Given the description of an element on the screen output the (x, y) to click on. 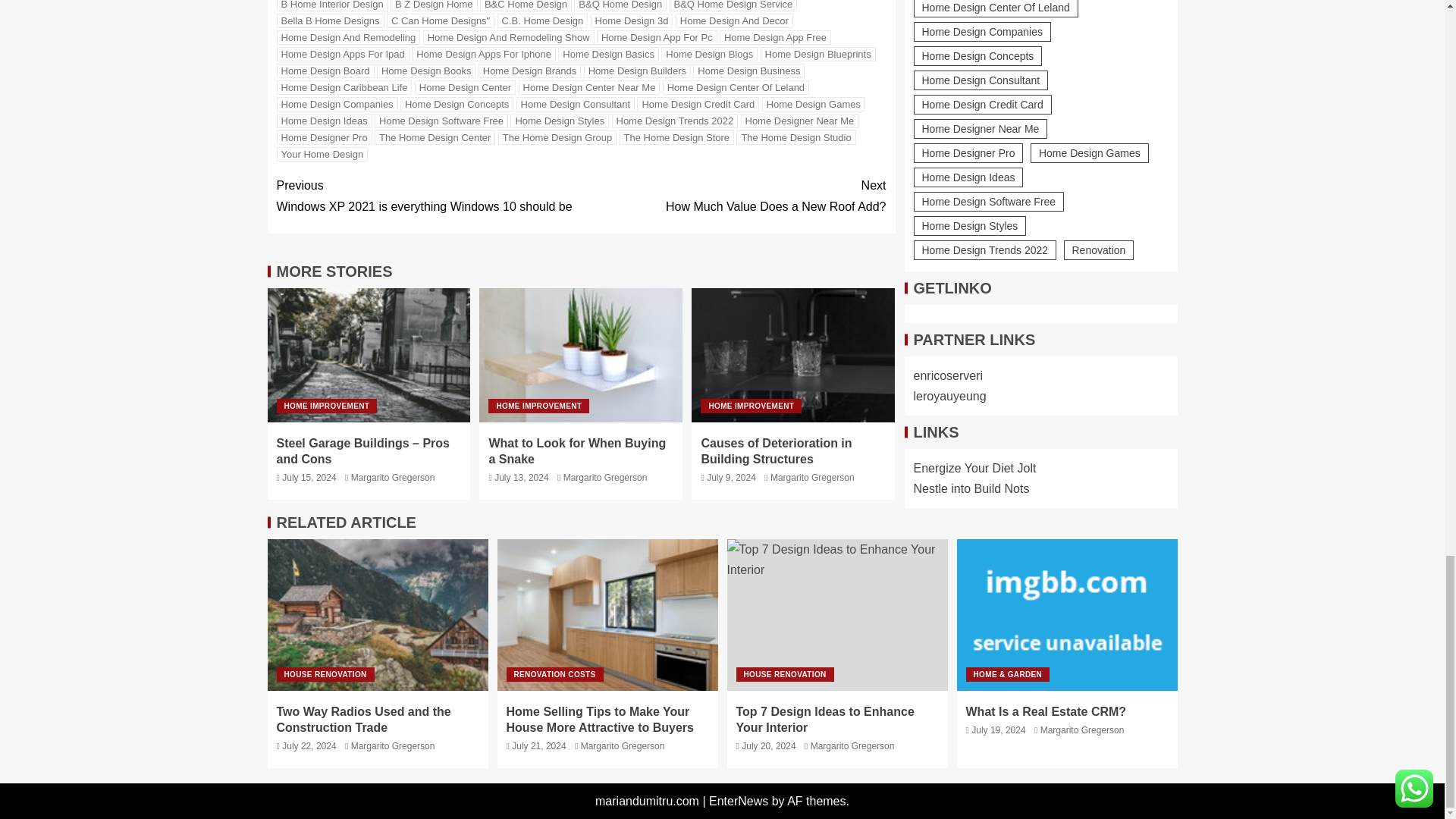
Causes of Deterioration in Building Structures (793, 355)
Bella B Home Designs (330, 20)
B Home Interior Design (331, 5)
What to Look for When Buying a Snake (580, 355)
B Z Design Home (433, 5)
